Given the description of an element on the screen output the (x, y) to click on. 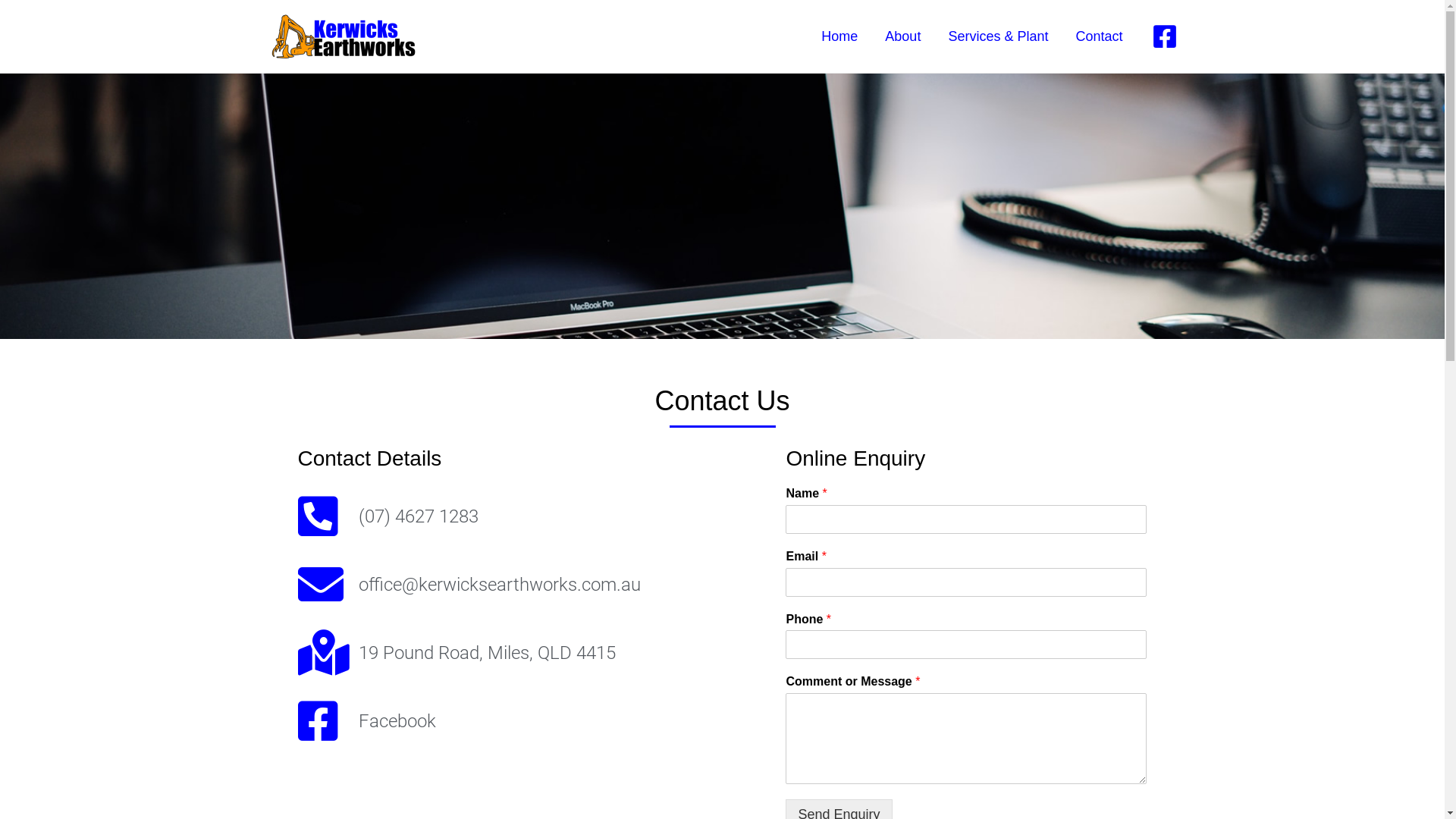
Services & Plant Element type: text (997, 35)
19 Pound Road, Miles, QLD 4415 Element type: text (533, 652)
Contact Element type: text (1098, 35)
(07) 4627 1283 Element type: text (533, 516)
About Element type: text (902, 35)
Facebook Element type: text (533, 720)
Home Element type: text (839, 35)
office@kerwicksearthworks.com.au Element type: text (533, 584)
